Given the description of an element on the screen output the (x, y) to click on. 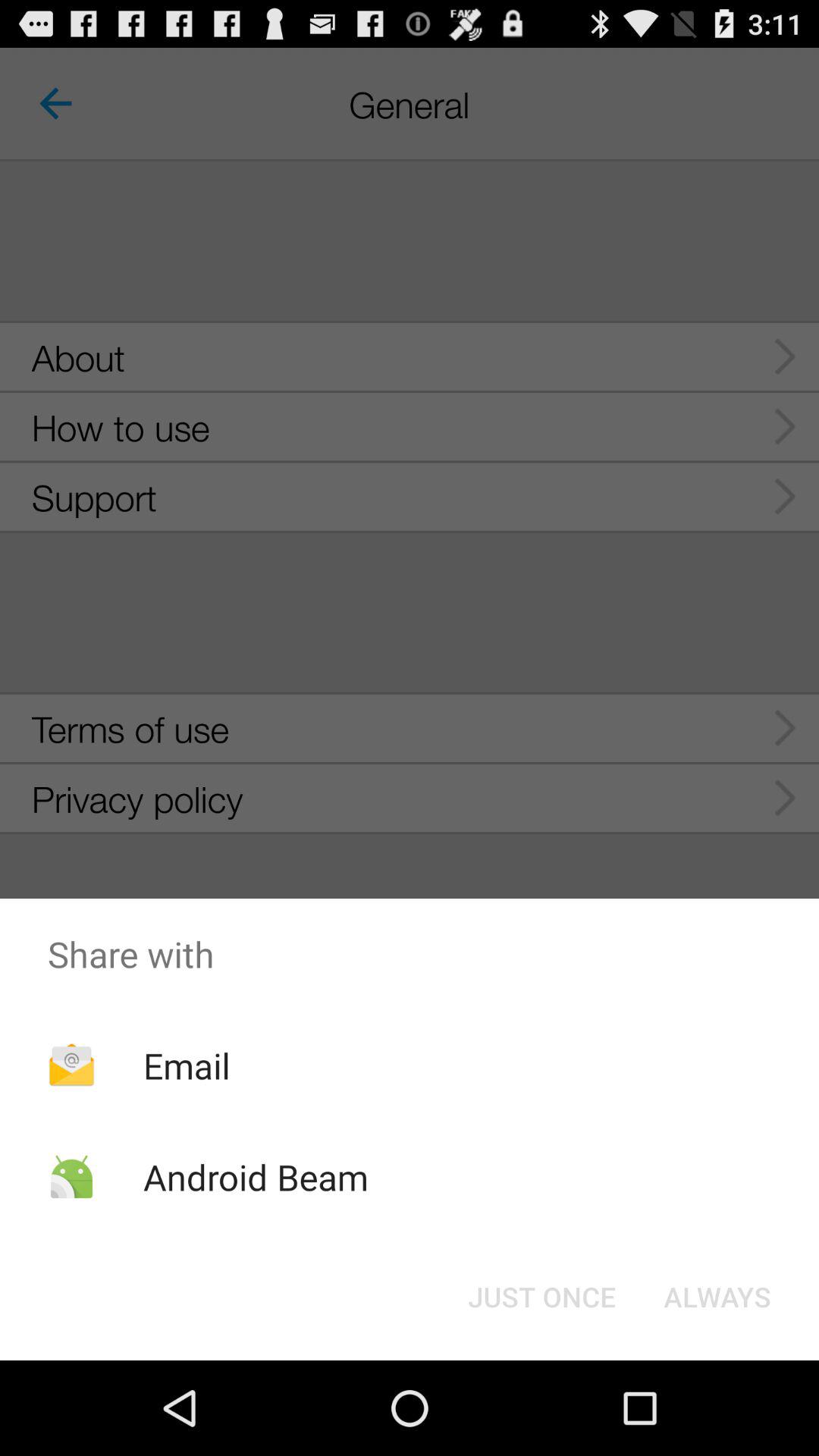
jump to the always (717, 1296)
